Given the description of an element on the screen output the (x, y) to click on. 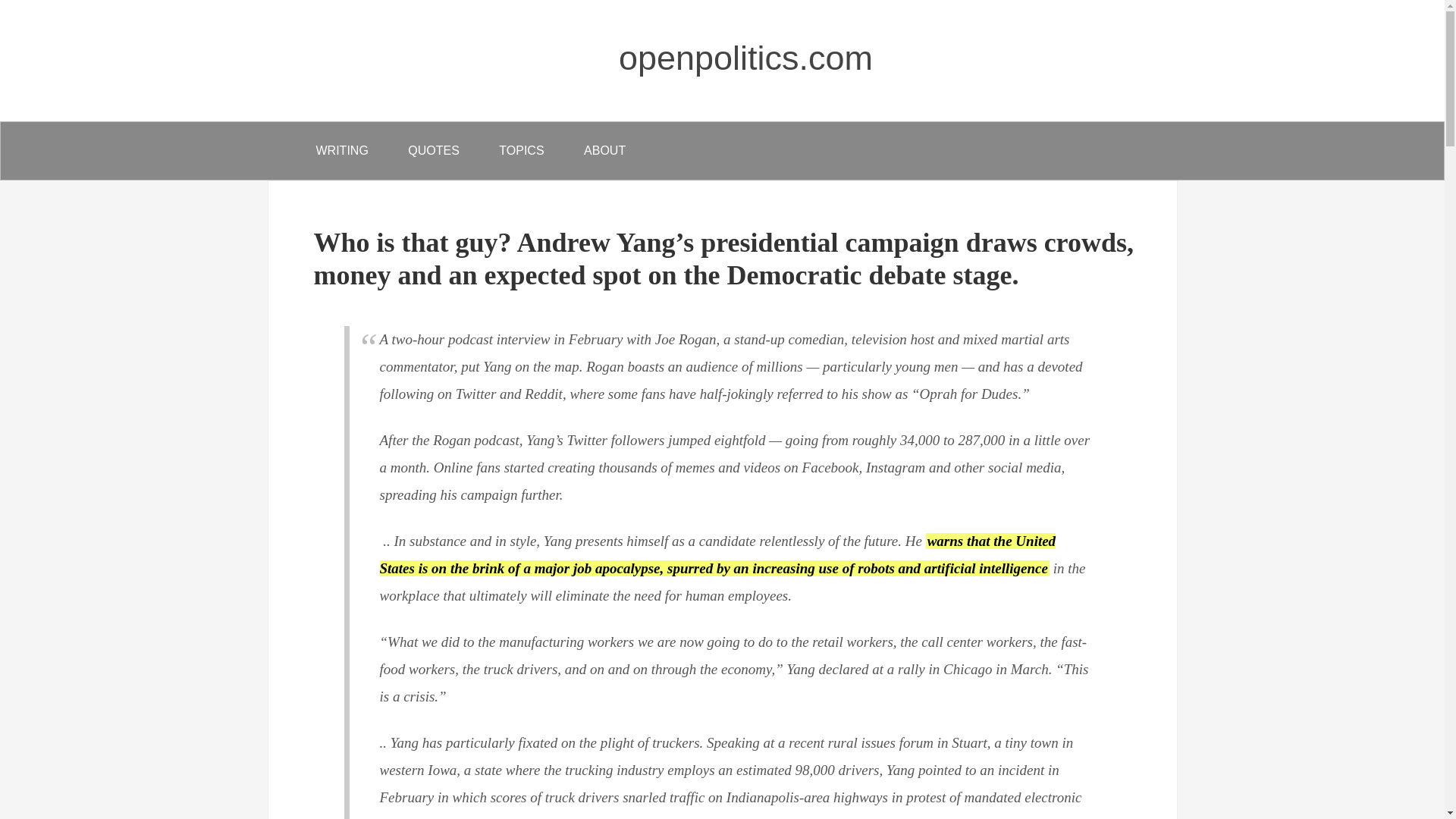
QUOTES (433, 150)
ABOUT (604, 150)
WRITING (341, 150)
openpolitics.com (745, 57)
TOPICS (521, 150)
